Given the description of an element on the screen output the (x, y) to click on. 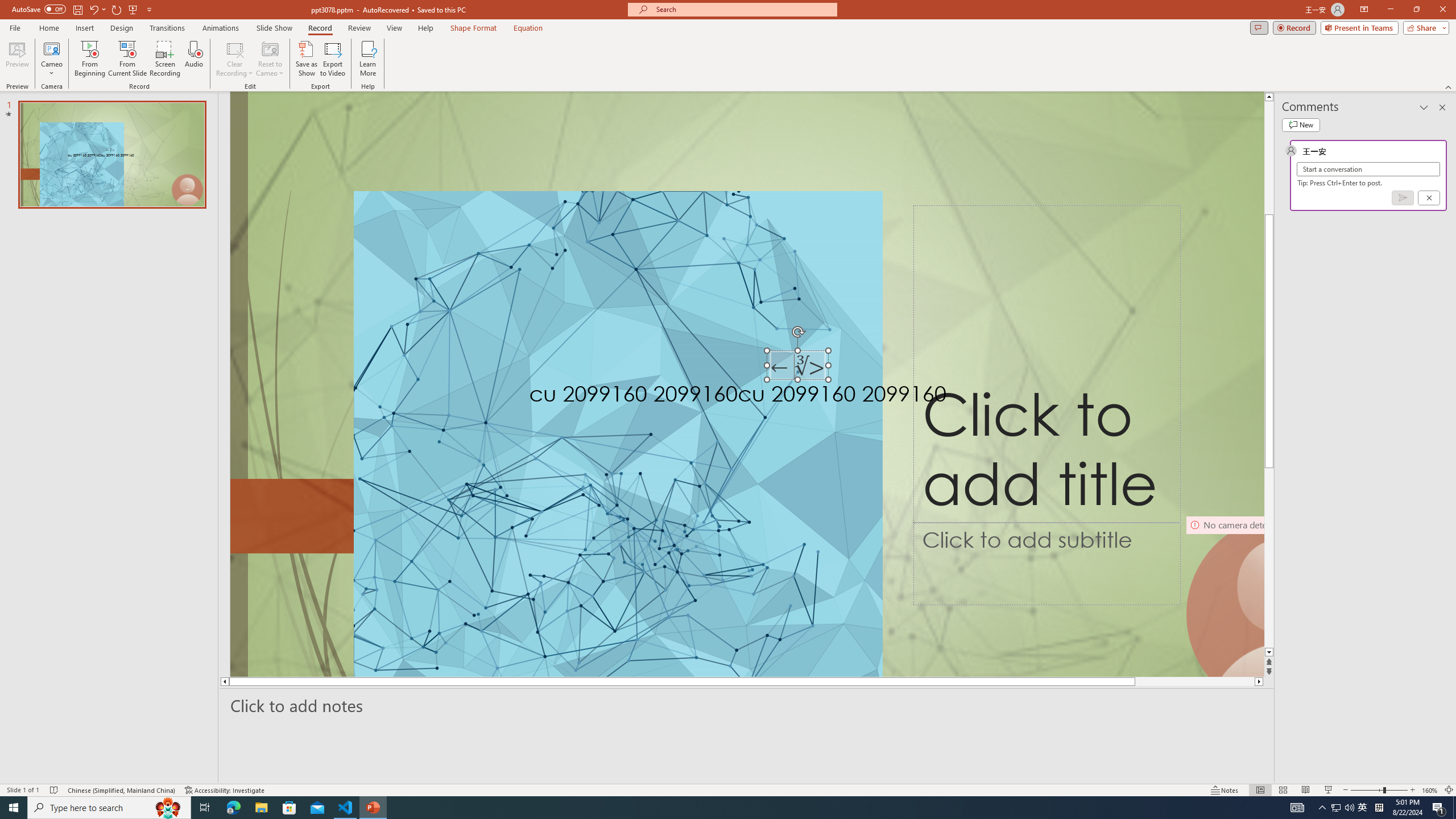
Subtitle TextBox (1046, 563)
Export to Video (332, 58)
